Given the description of an element on the screen output the (x, y) to click on. 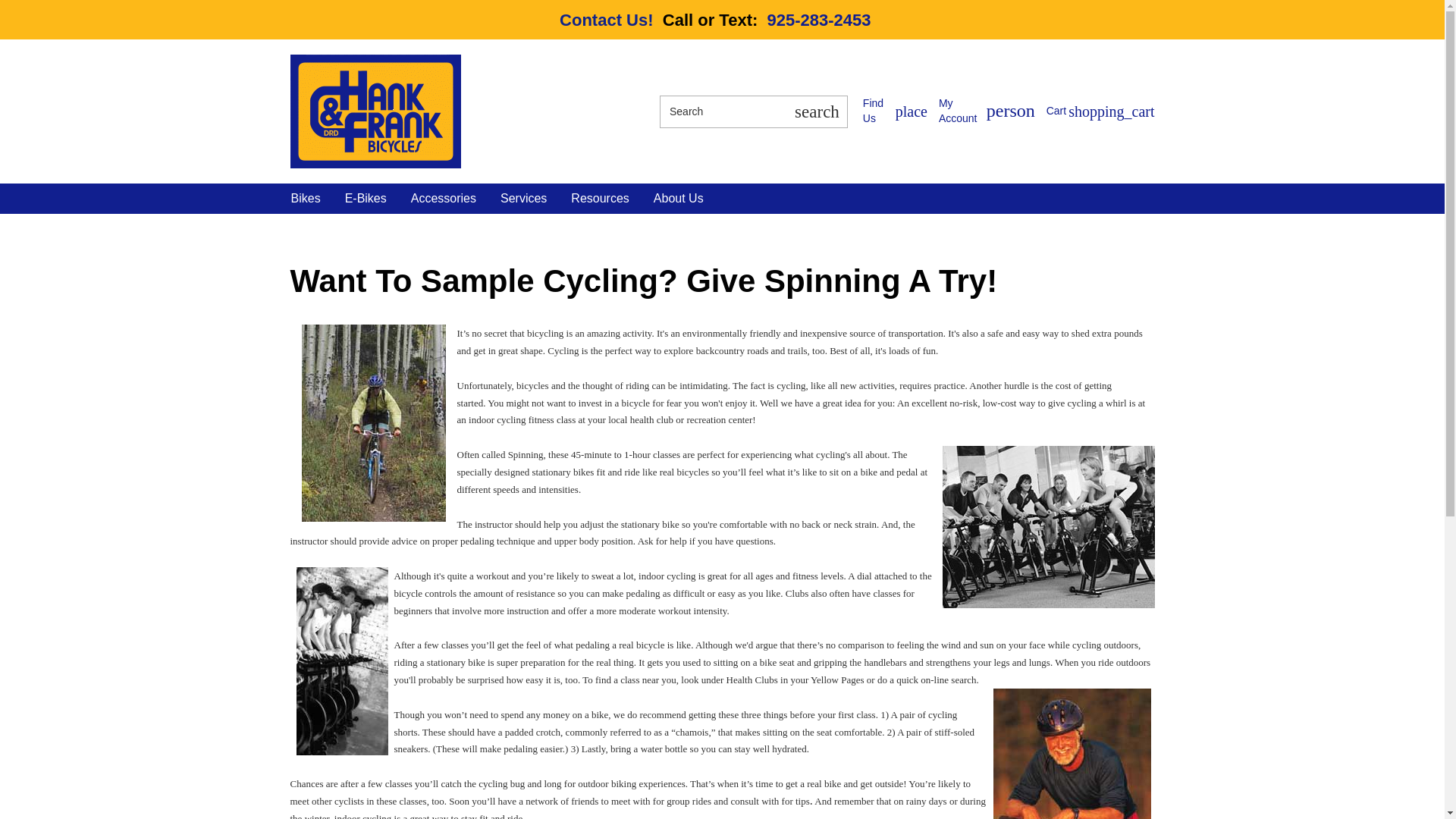
Account (987, 111)
Store (895, 111)
Search (722, 111)
Search (895, 111)
Bikes (1100, 111)
